Given the description of an element on the screen output the (x, y) to click on. 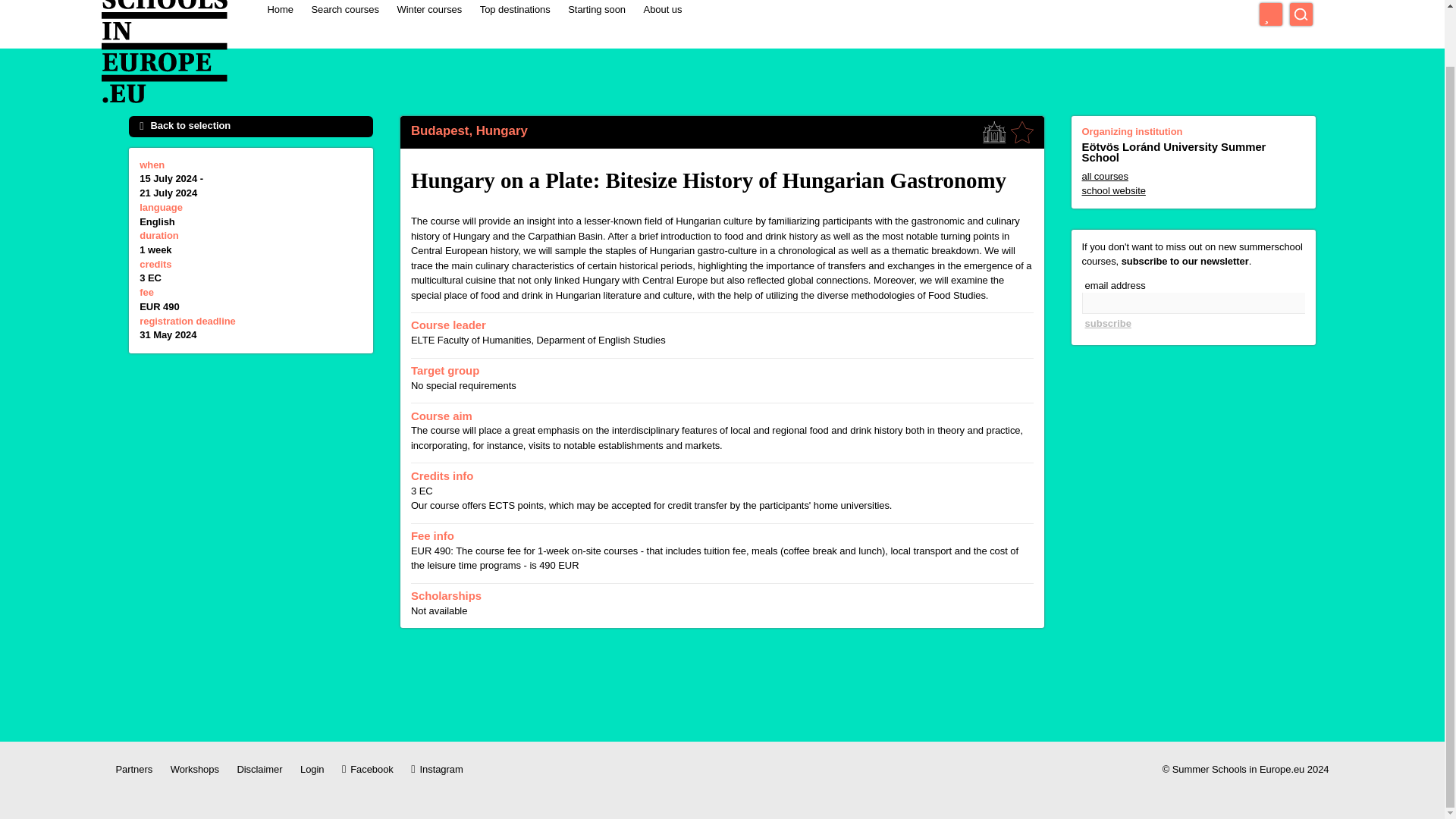
Partners (133, 768)
subscribe (1107, 323)
Disclaimer (258, 768)
Home (279, 10)
Summer schools in Europe (164, 53)
school website (1192, 191)
search (1301, 14)
Instagram (436, 768)
Add as favourite (1021, 132)
Winter courses (428, 10)
